Given the description of an element on the screen output the (x, y) to click on. 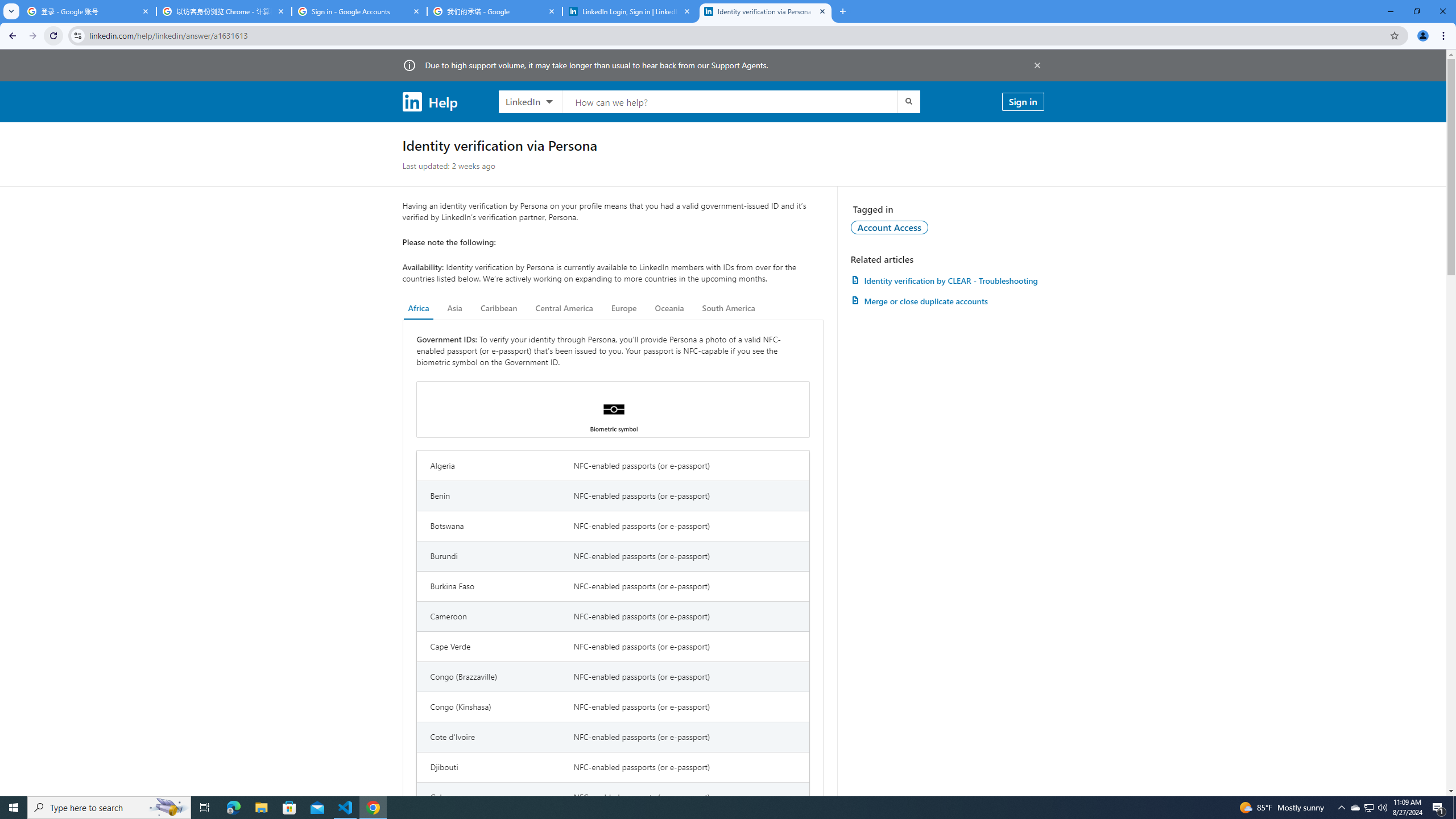
AutomationID: topic-link-a151002 (889, 227)
Biometric symbol (612, 409)
Identity verification by CLEAR - Troubleshooting (946, 280)
LinkedIn Login, Sign in | LinkedIn (630, 11)
Asia (454, 308)
Caribbean (499, 308)
Oceania (668, 308)
